Given the description of an element on the screen output the (x, y) to click on. 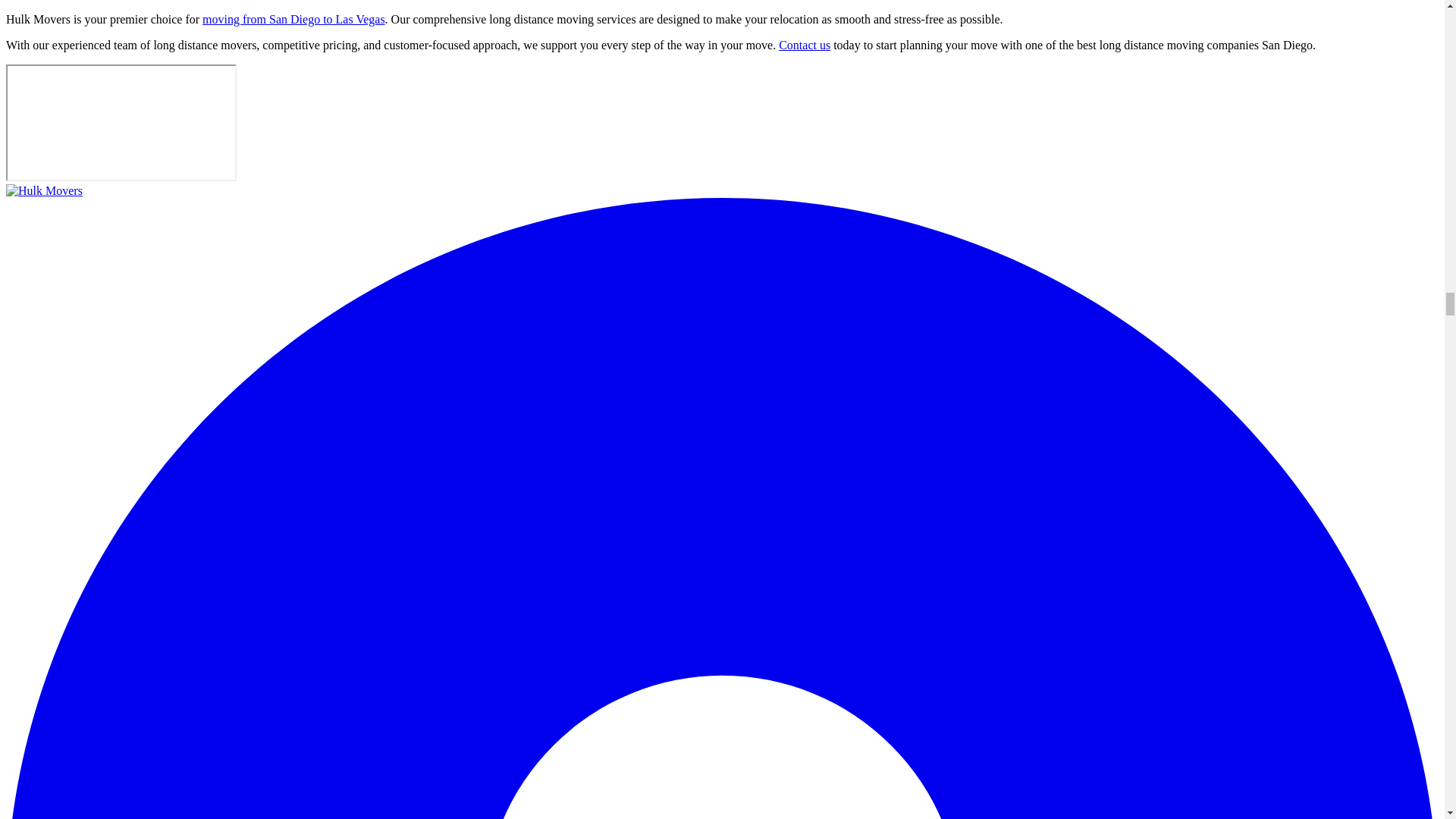
Map (120, 122)
Contact us (803, 44)
moving from San Diego to Las Vegas (293, 19)
